Given the description of an element on the screen output the (x, y) to click on. 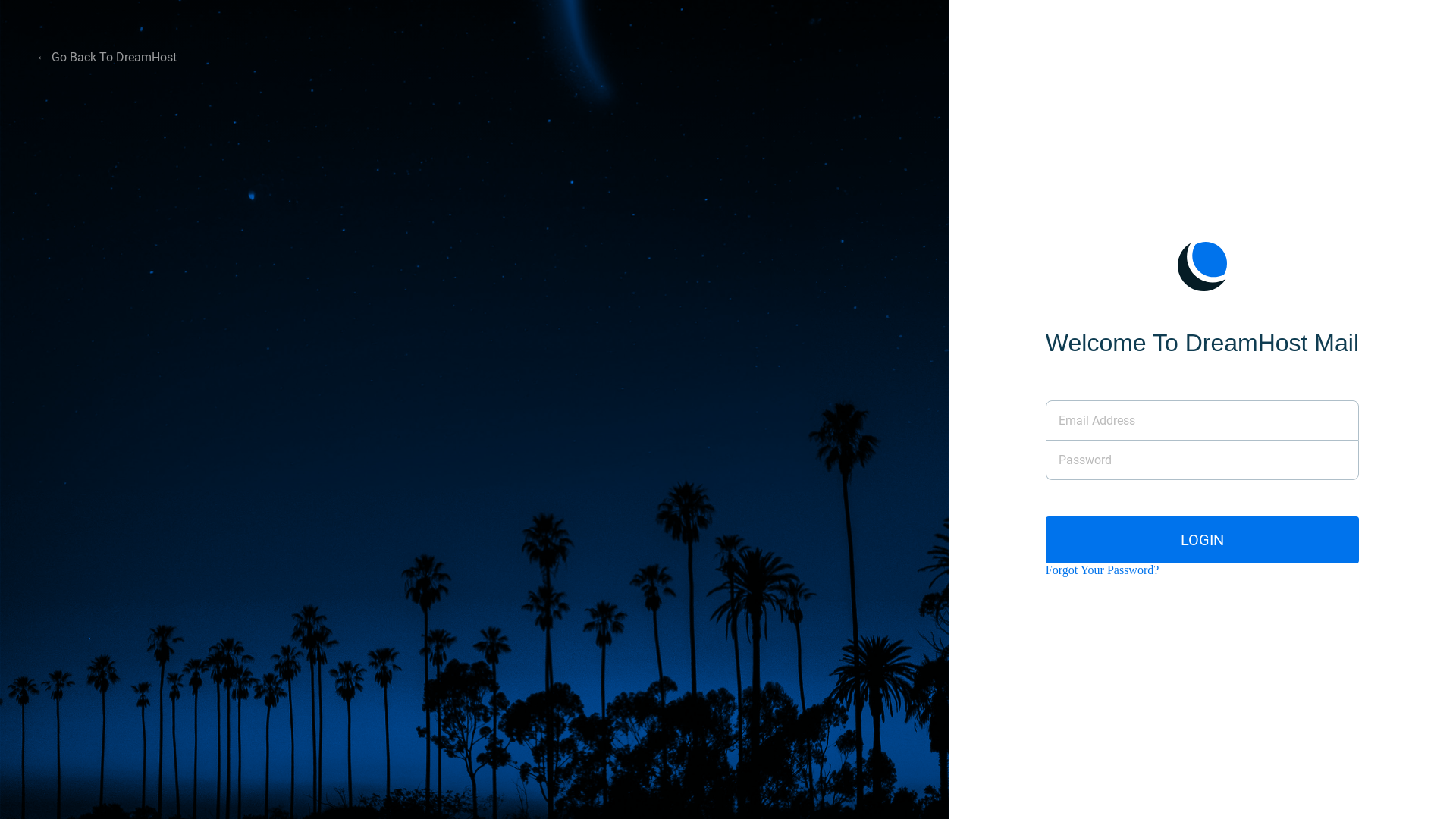
Forgot Your Password? Element type: text (1102, 569)
LOGIN Element type: text (1201, 539)
